Given the description of an element on the screen output the (x, y) to click on. 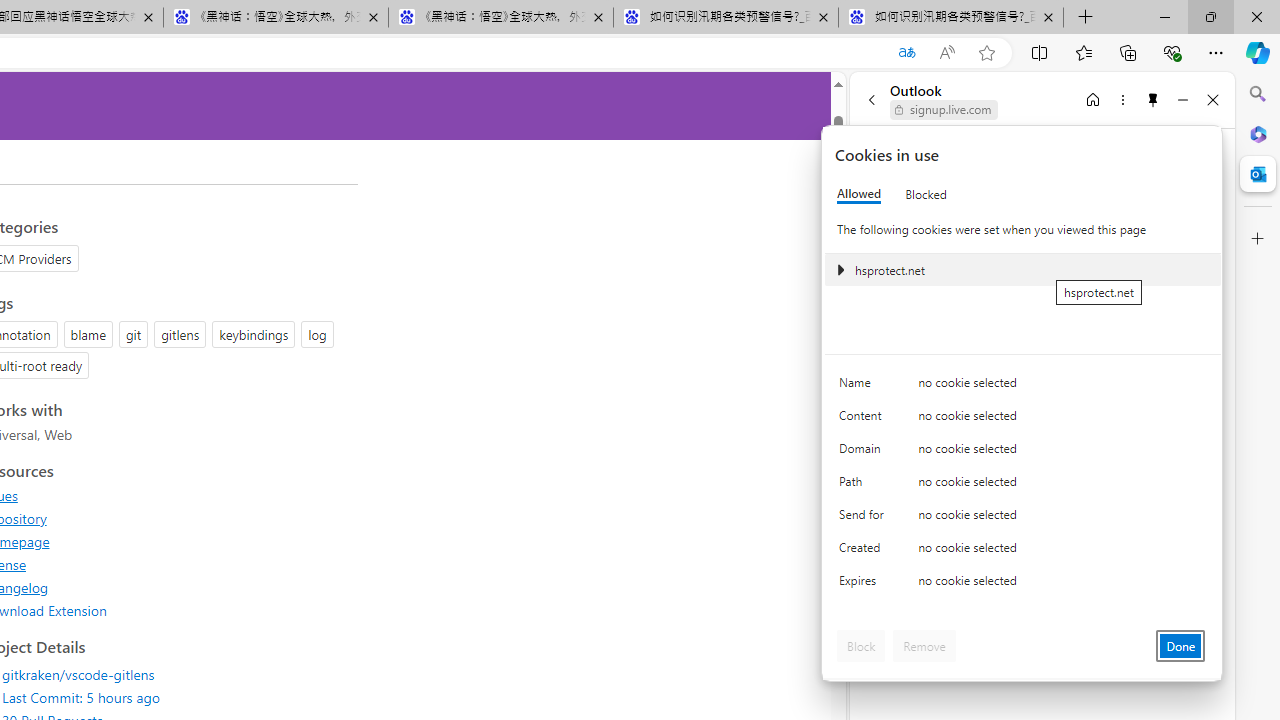
Class: c0153 c0157 (1023, 584)
Blocked (925, 193)
Class: c0153 c0157 c0154 (1023, 386)
Domain (864, 452)
Created (864, 552)
Send for (864, 518)
no cookie selected (1062, 585)
Path (864, 485)
Expires (864, 585)
Remove (924, 645)
Block (861, 645)
Done (1179, 645)
Name (864, 387)
Allowed (859, 193)
Content (864, 420)
